Given the description of an element on the screen output the (x, y) to click on. 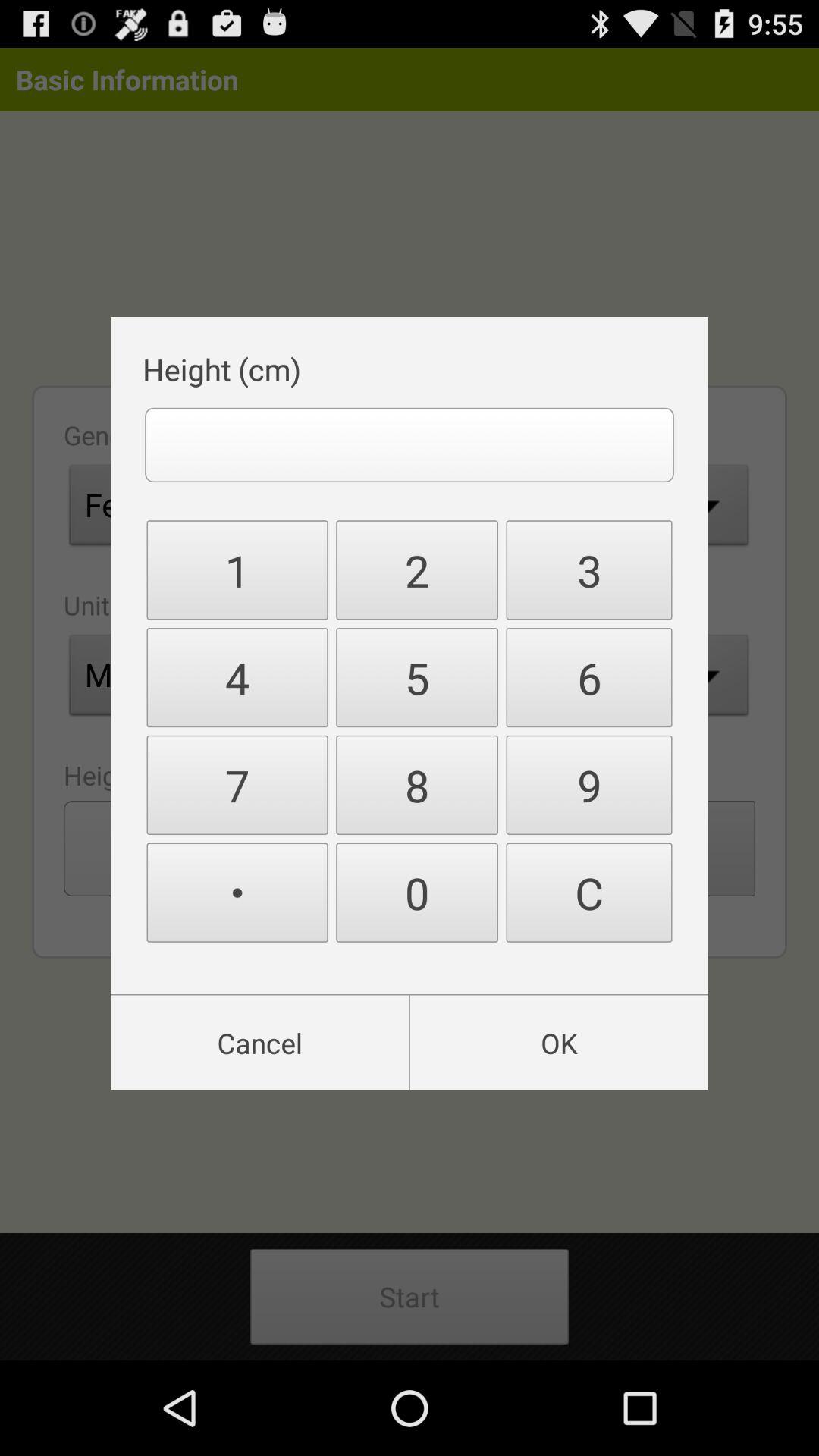
turn off ok icon (559, 1042)
